Given the description of an element on the screen output the (x, y) to click on. 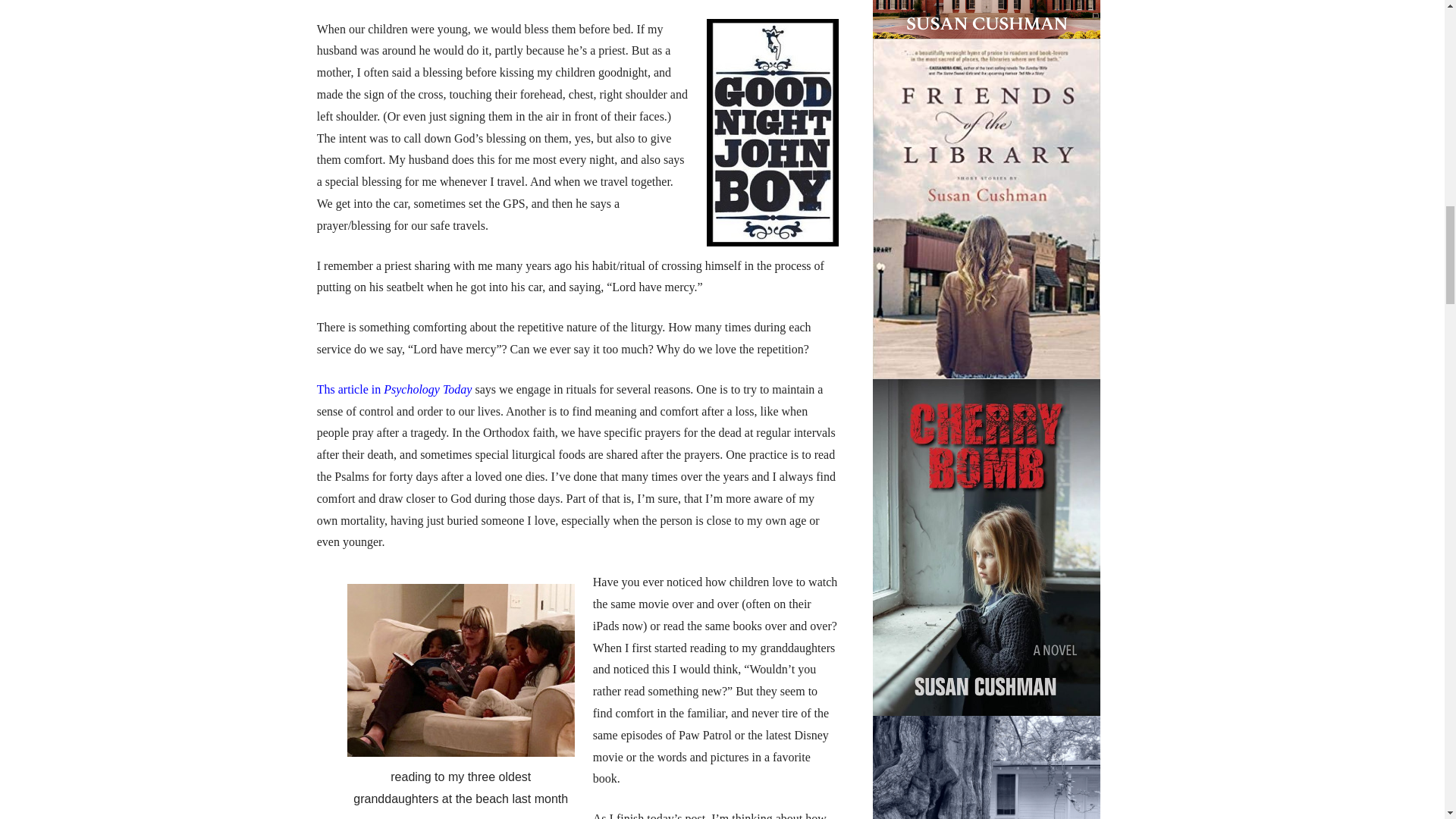
Ths article in Psychology Today (394, 389)
